Given the description of an element on the screen output the (x, y) to click on. 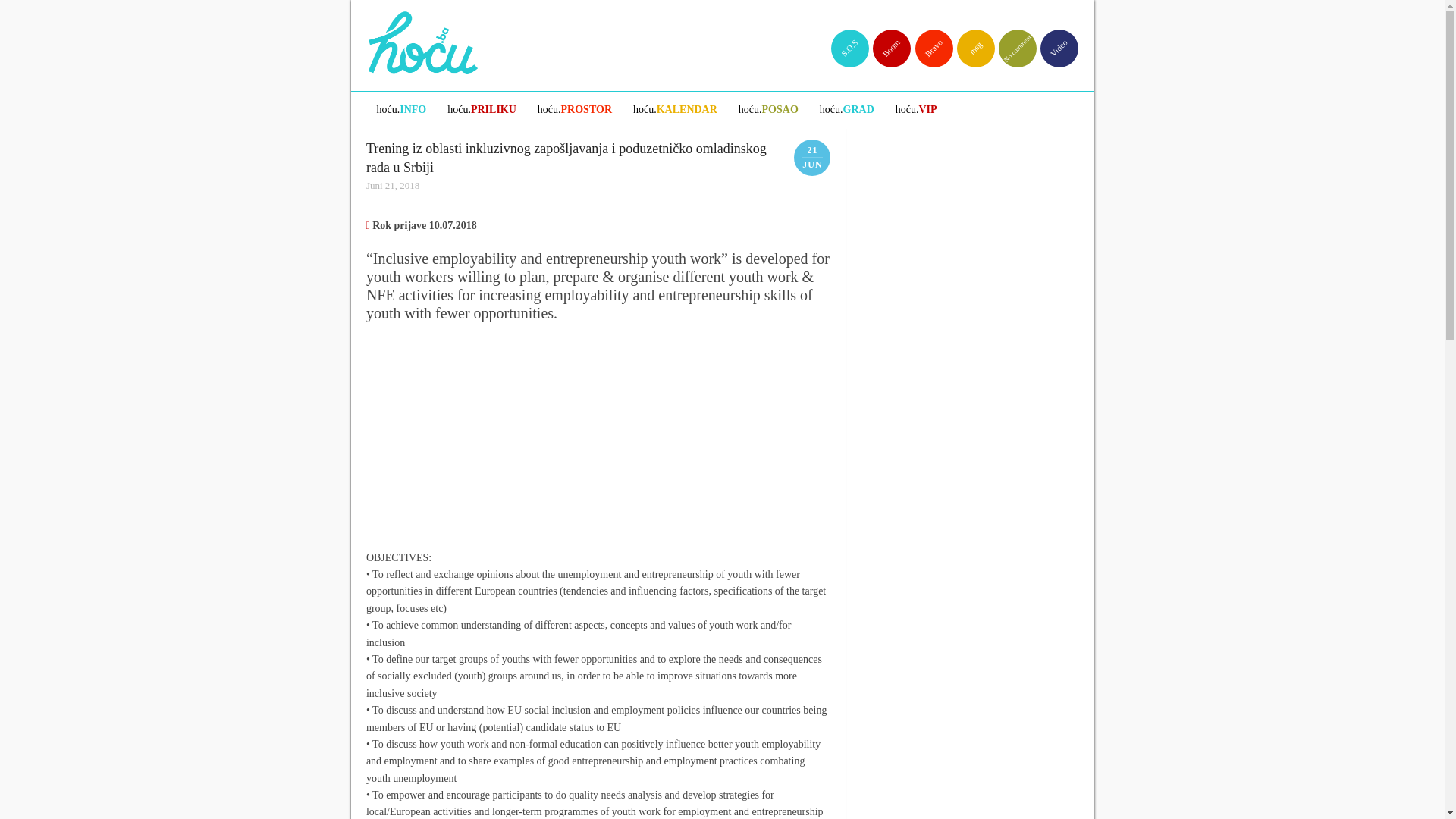
No comment (1010, 40)
Bravo (925, 40)
Hocu.ba (422, 36)
msg (968, 40)
Video (1051, 40)
Boom (883, 40)
S.O.S (842, 40)
